Given the description of an element on the screen output the (x, y) to click on. 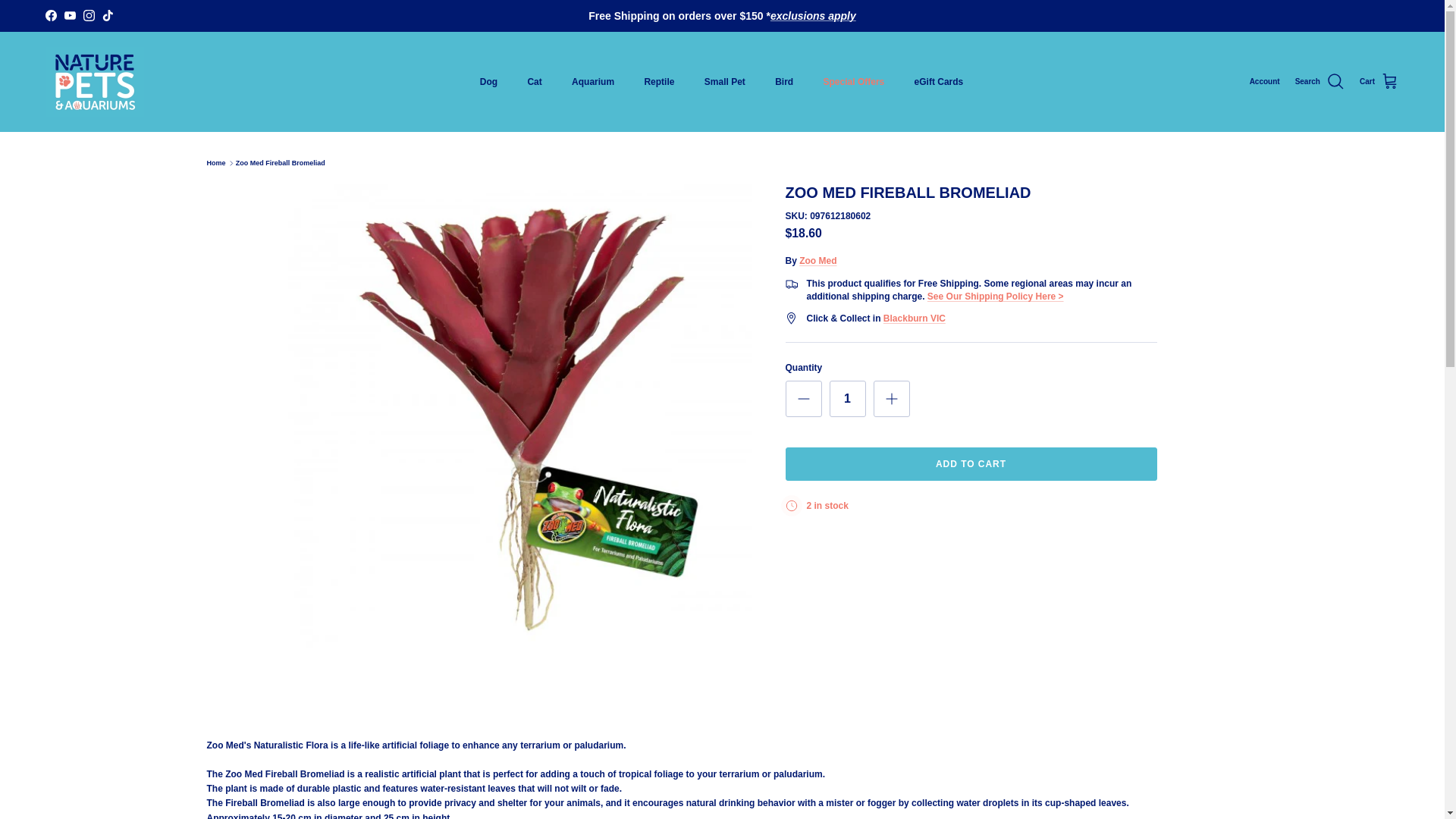
Cart (1379, 81)
Instagram (88, 15)
TikTok (107, 15)
Facebook (50, 15)
Small Pet (724, 81)
Account (1264, 81)
exclusions apply (813, 15)
YouTube (69, 15)
Bird (783, 81)
Search (1319, 81)
